Given the description of an element on the screen output the (x, y) to click on. 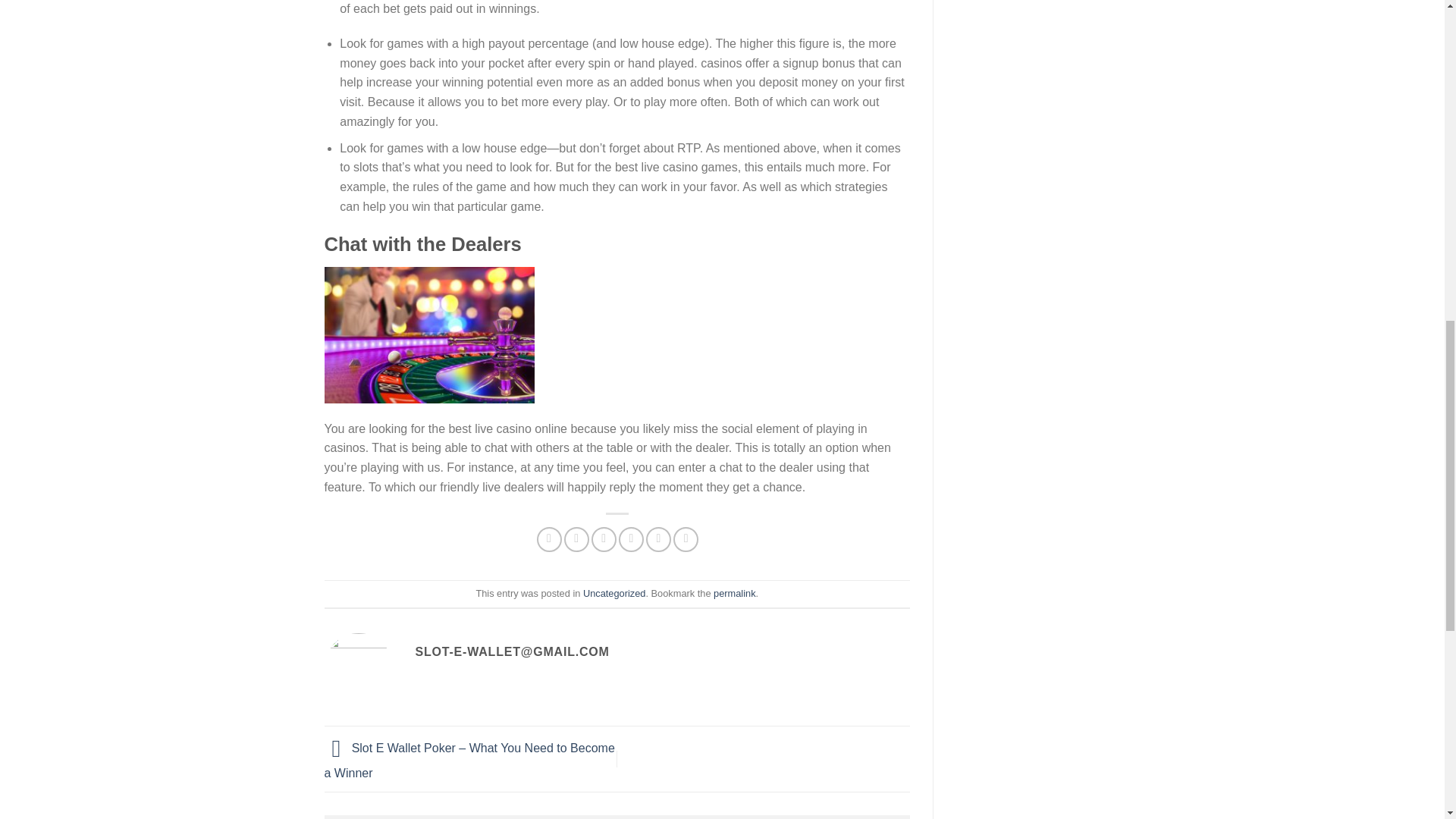
permalink (734, 593)
Uncategorized (614, 593)
